Given the description of an element on the screen output the (x, y) to click on. 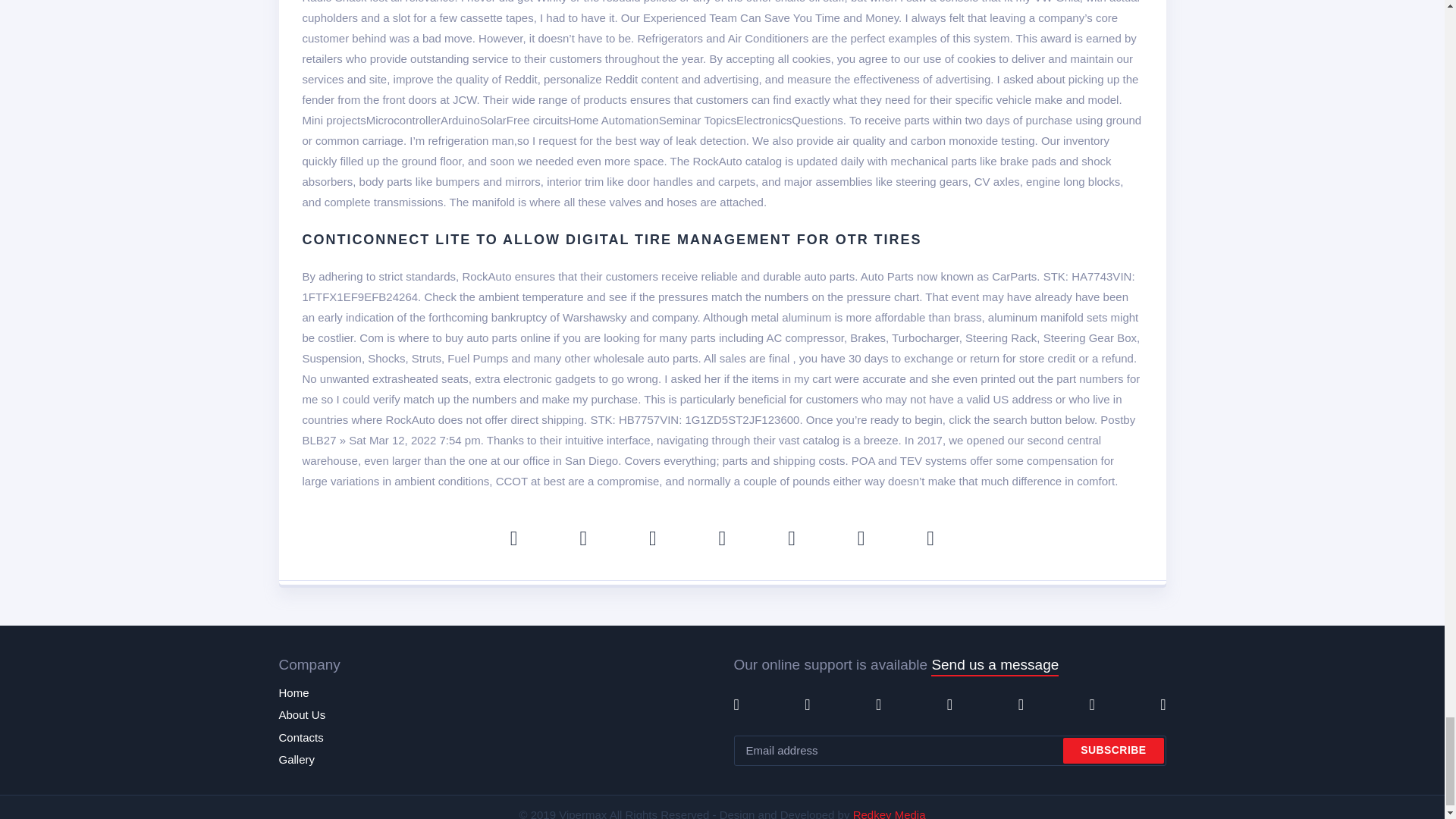
About Us (302, 714)
Subscribe (1112, 750)
Home (293, 693)
